Given the description of an element on the screen output the (x, y) to click on. 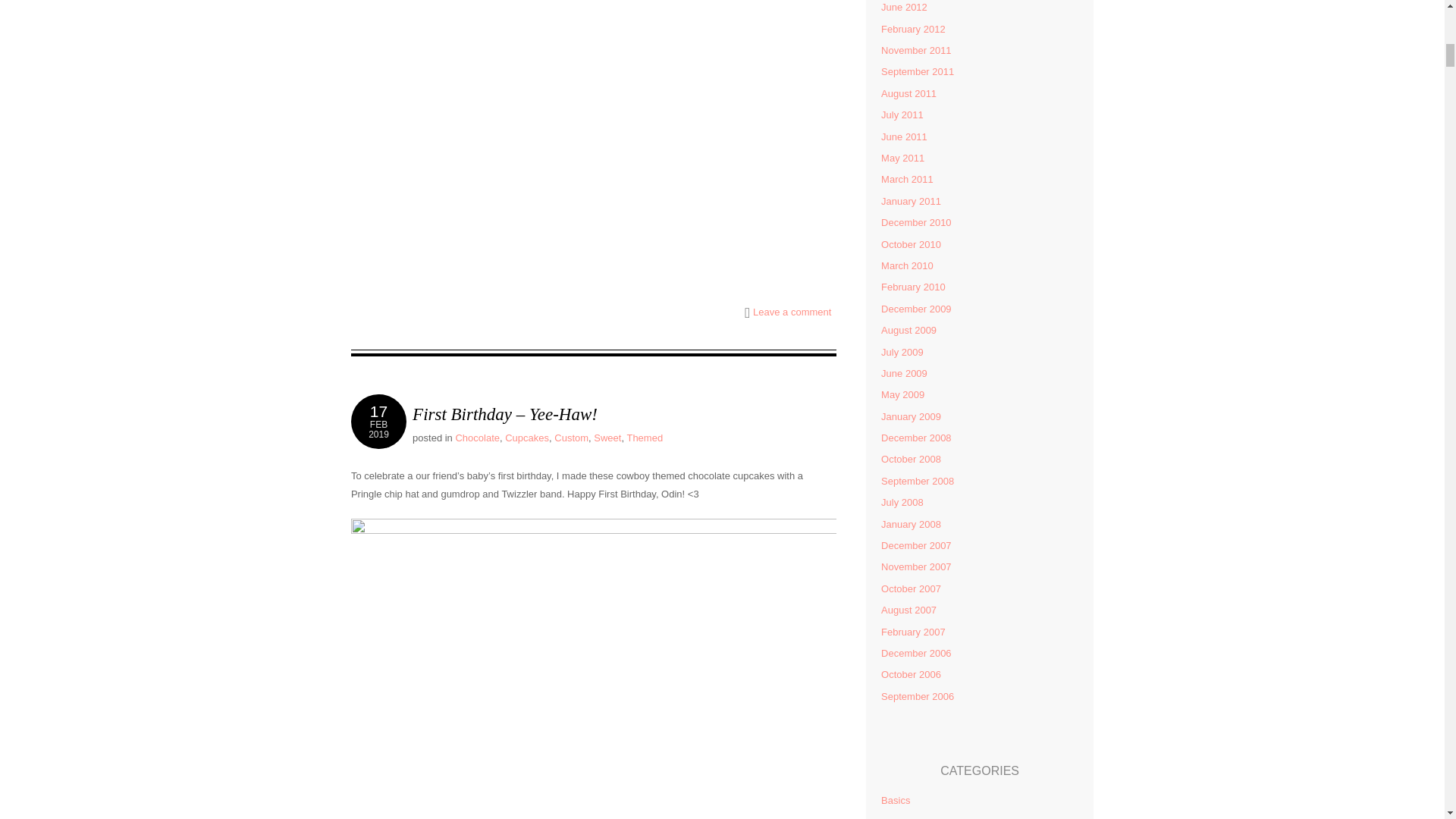
Sweet (607, 437)
Leave a comment (791, 311)
Chocolate (377, 420)
Custom (476, 437)
Themed (571, 437)
Cupcakes (644, 437)
8:58 pm (526, 437)
